Given the description of an element on the screen output the (x, y) to click on. 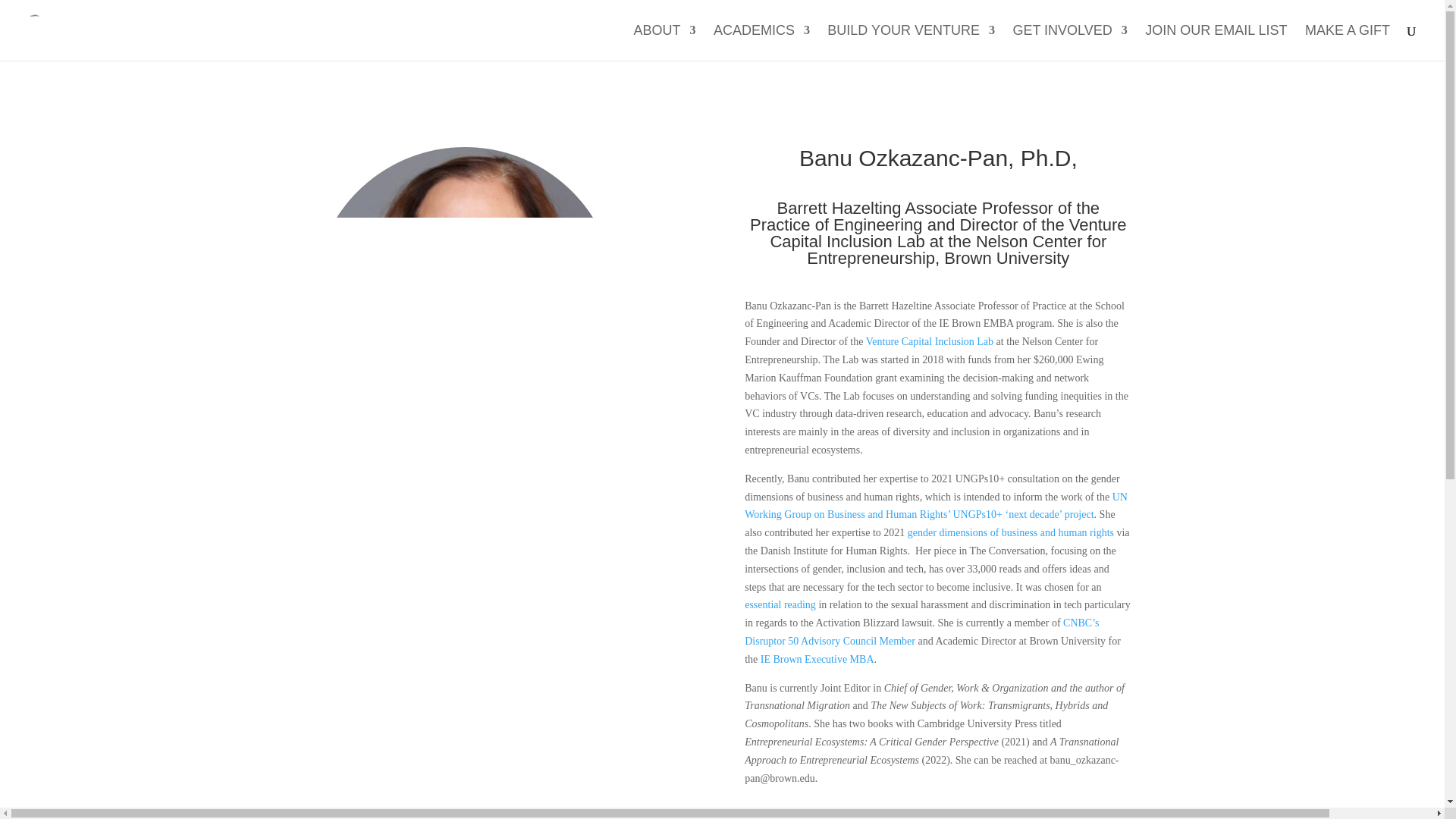
BUILD YOUR VENTURE (910, 42)
ACADEMICS (761, 42)
ABOUT (664, 42)
